Given the description of an element on the screen output the (x, y) to click on. 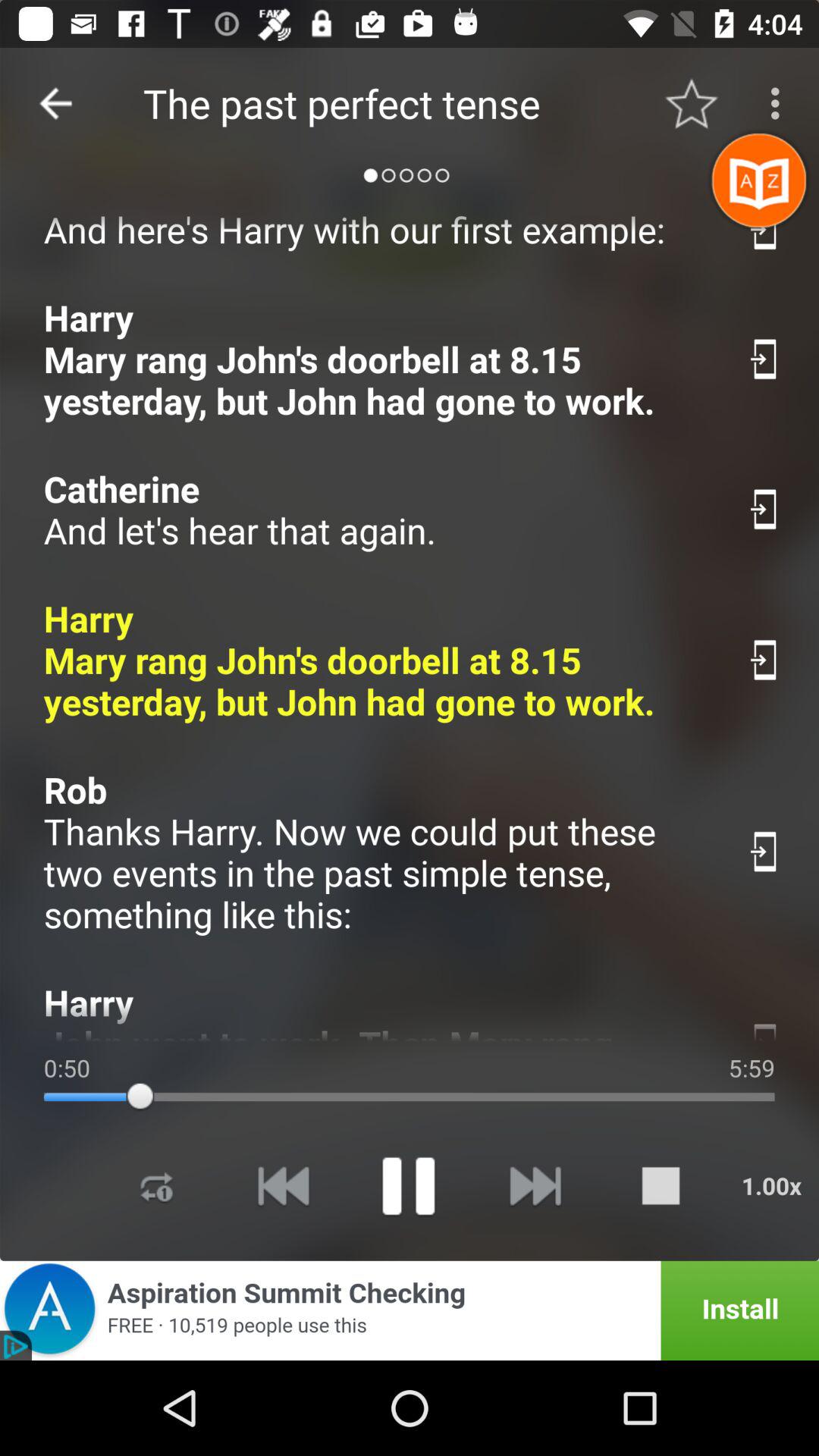
select advertisement (409, 1310)
